Given the description of an element on the screen output the (x, y) to click on. 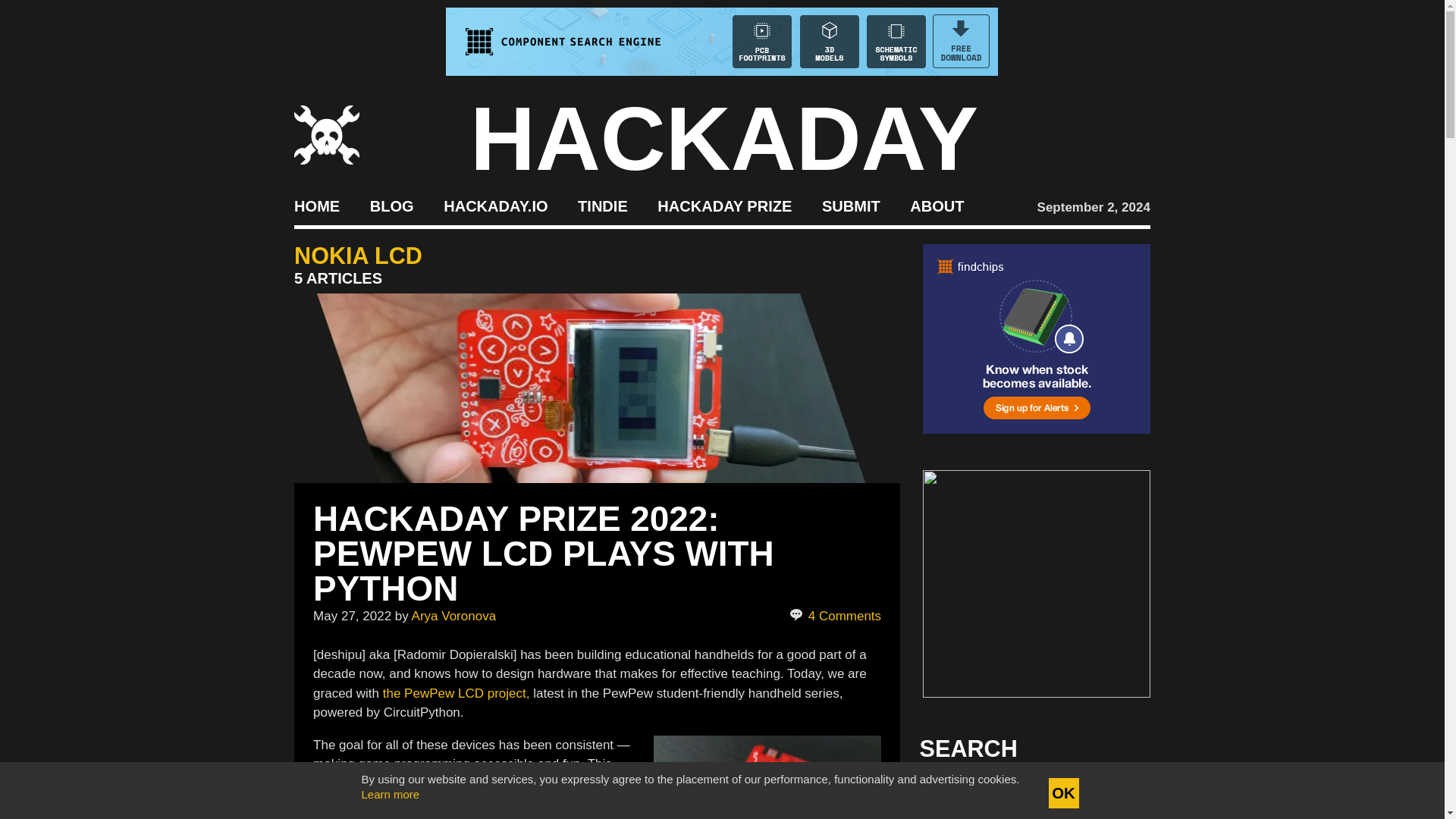
Build Something that Matters (725, 205)
Search (1115, 792)
TINDIE (602, 205)
Posts by Arya Voronova (454, 616)
Search (1115, 792)
the PewPew LCD project, (455, 693)
HACKADAY (724, 138)
May 27, 2022 (352, 616)
Arya Voronova (454, 616)
SUBMIT (851, 205)
